Given the description of an element on the screen output the (x, y) to click on. 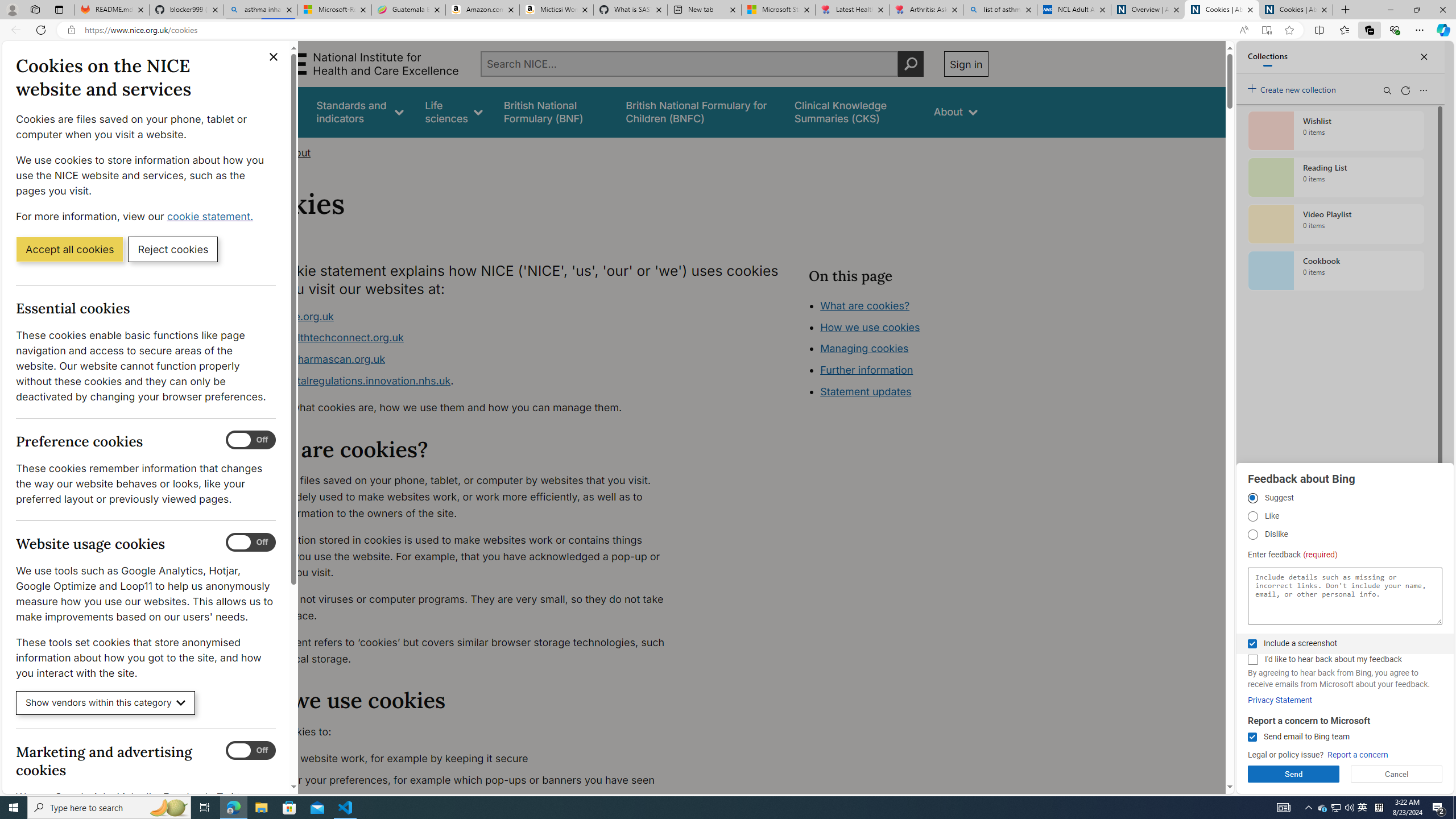
www.healthtechconnect.org.uk (327, 337)
asthma inhaler - Search (260, 9)
make our website work, for example by keeping it secure (464, 759)
Website usage cookies (250, 542)
British National Formulary for Children (BNFC) (699, 111)
www.ukpharmascan.org.uk (318, 359)
Report a concern (1358, 755)
Close cookie banner (273, 56)
How we use cookies (869, 327)
